Given the description of an element on the screen output the (x, y) to click on. 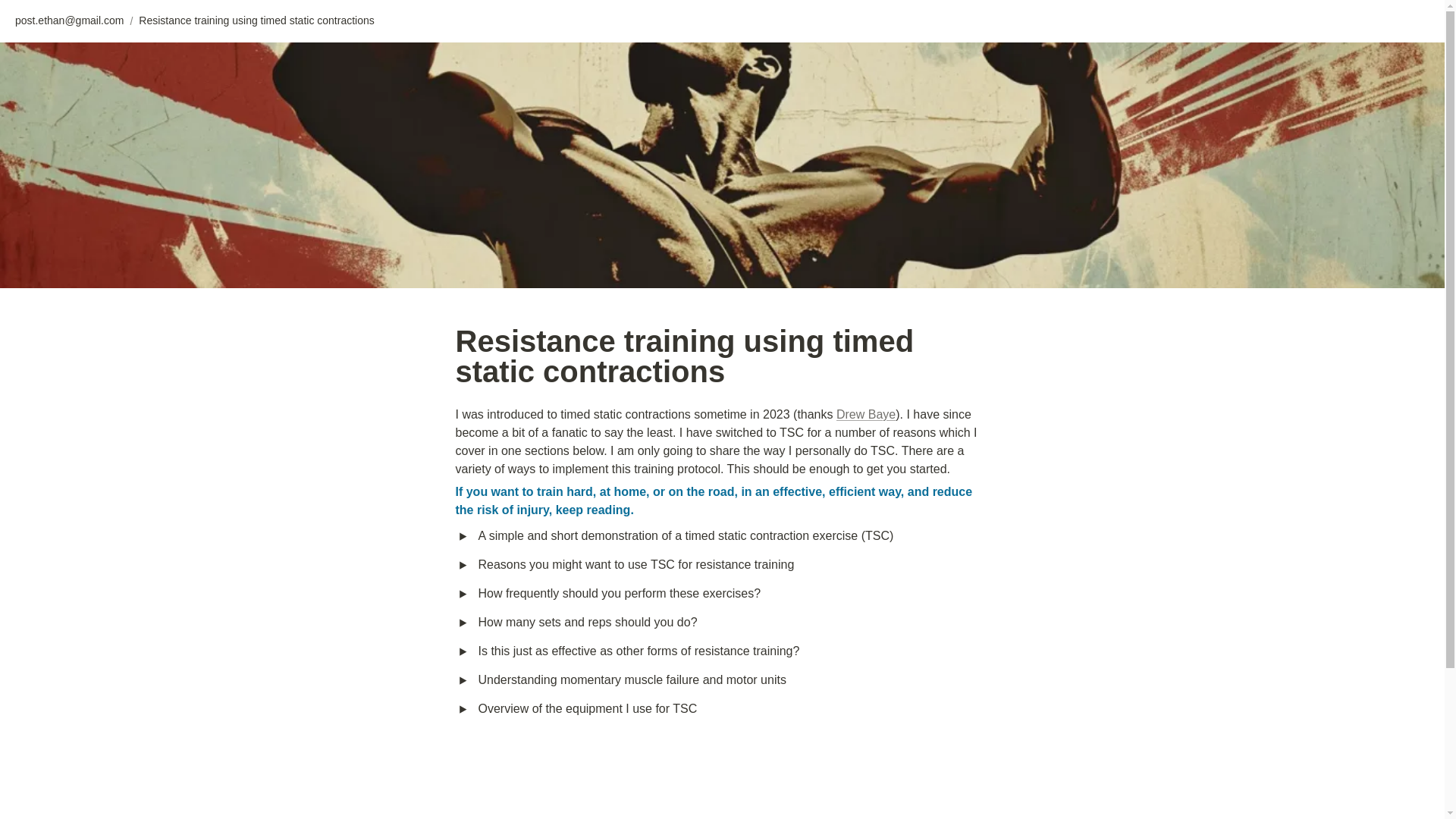
Drew Baye (865, 413)
Resistance training using timed static contractions (255, 21)
